Given the description of an element on the screen output the (x, y) to click on. 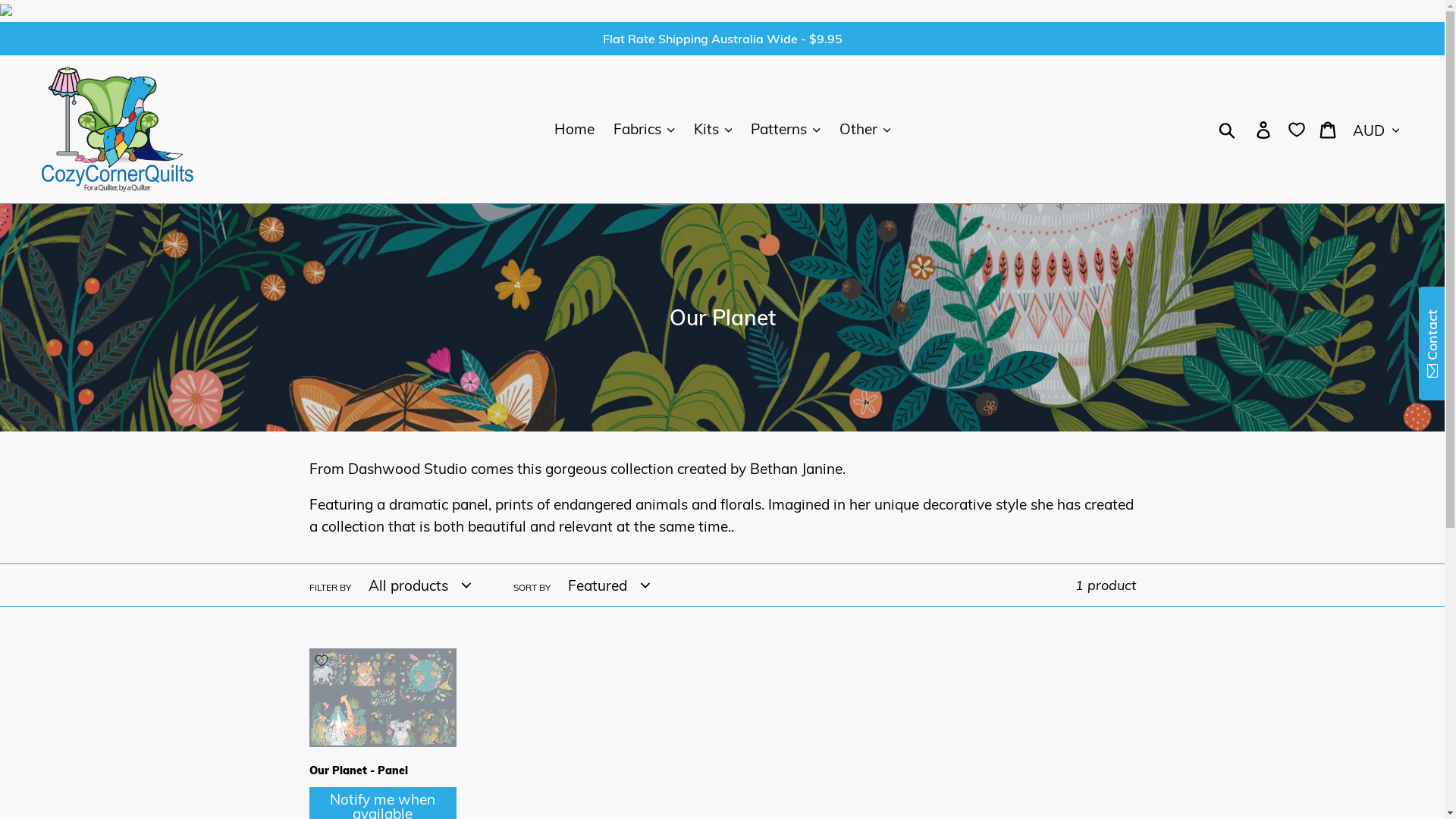
View Wishlist Element type: hover (1296, 128)
Log in Element type: text (1264, 128)
Cart Element type: text (1328, 128)
Home Element type: text (574, 129)
Submit Element type: text (38, 17)
Add to Wishlist Element type: hover (321, 660)
Submit Element type: text (1227, 129)
